Given the description of an element on the screen output the (x, y) to click on. 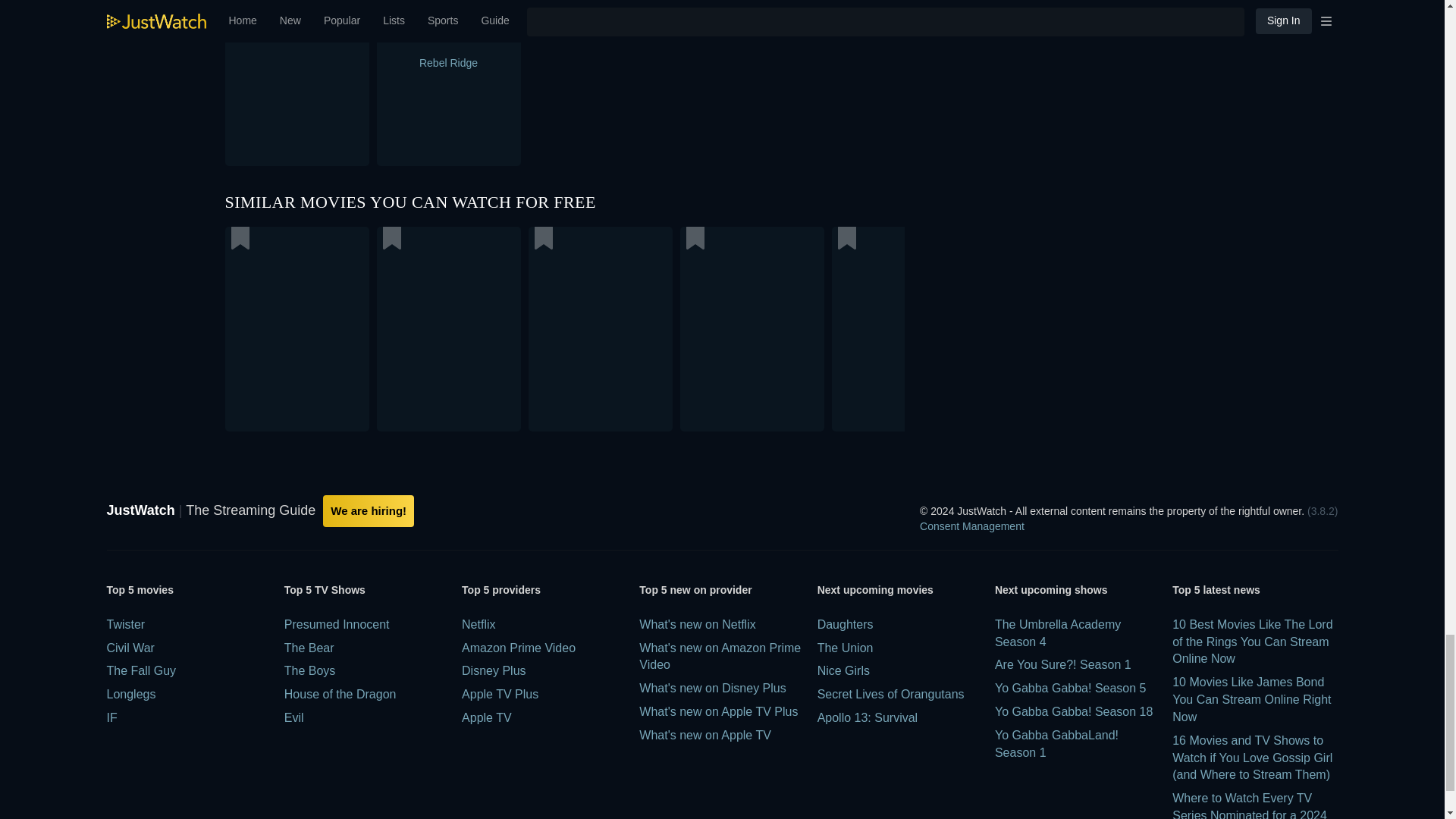
Rebel Ridge (374, 83)
Rebel Ridge (564, 83)
